Given the description of an element on the screen output the (x, y) to click on. 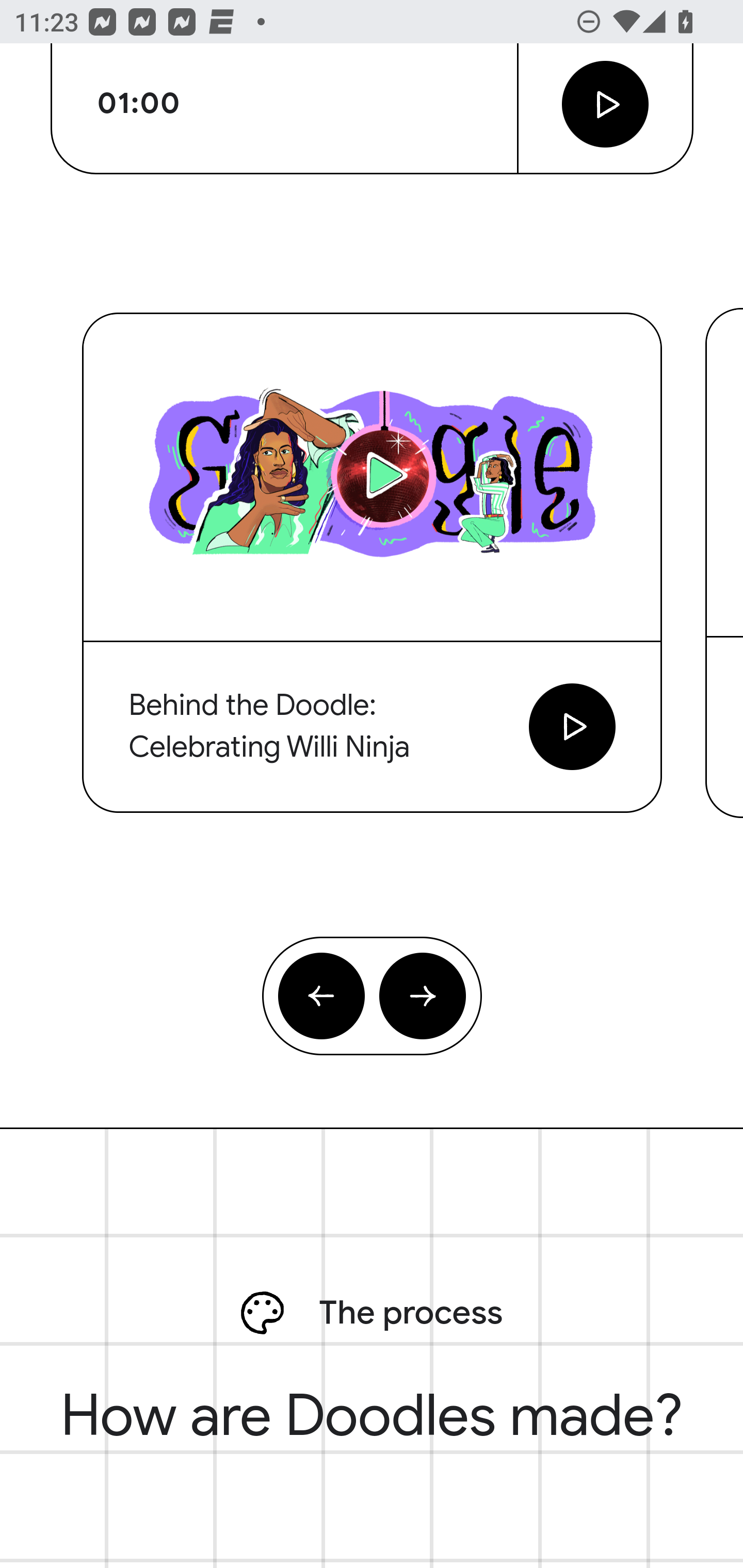
Previous slide (321, 996)
Next slide (421, 996)
